Given the description of an element on the screen output the (x, y) to click on. 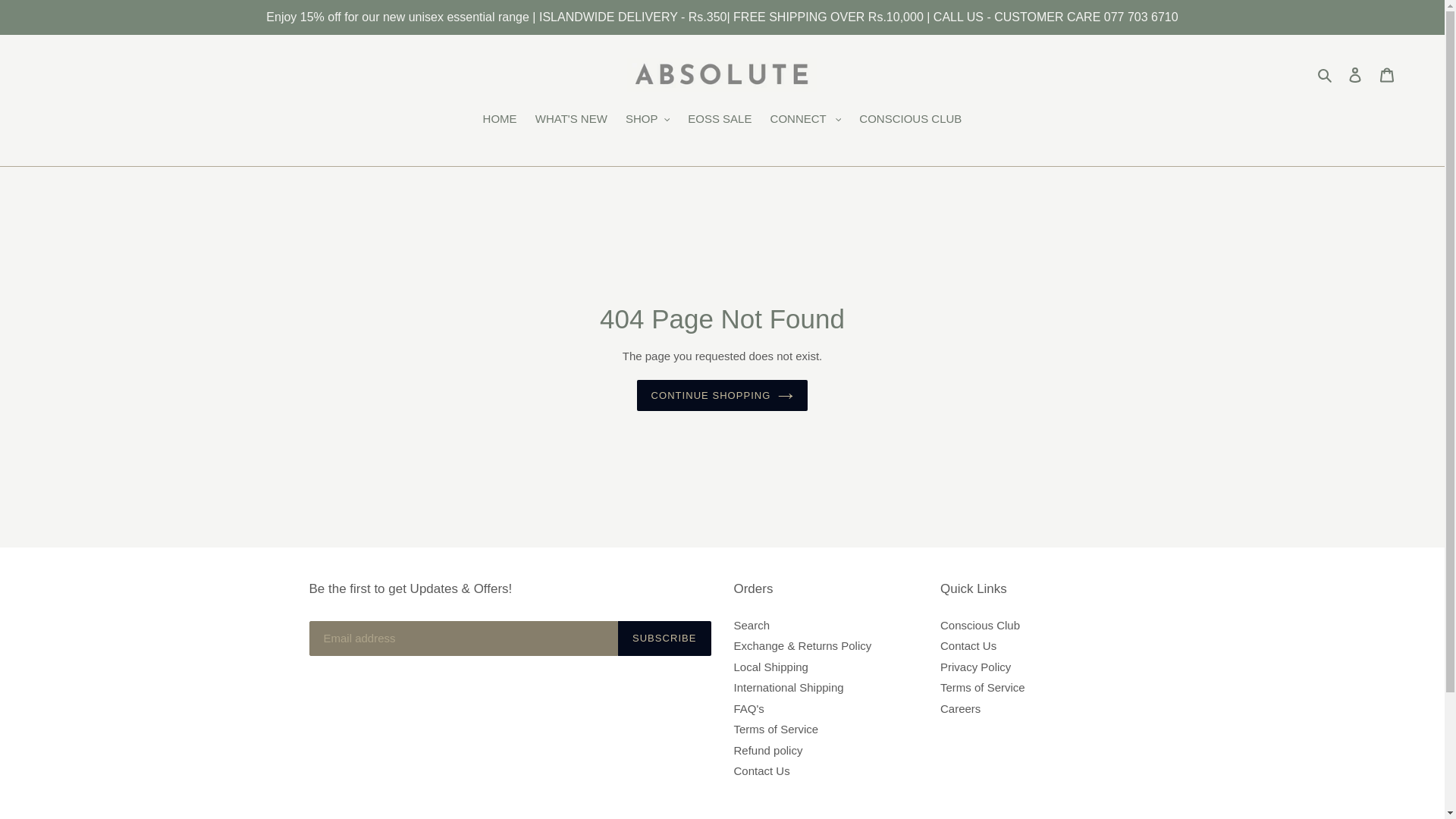
Cart (1387, 74)
Search (1326, 74)
Log in (1355, 74)
